Given the description of an element on the screen output the (x, y) to click on. 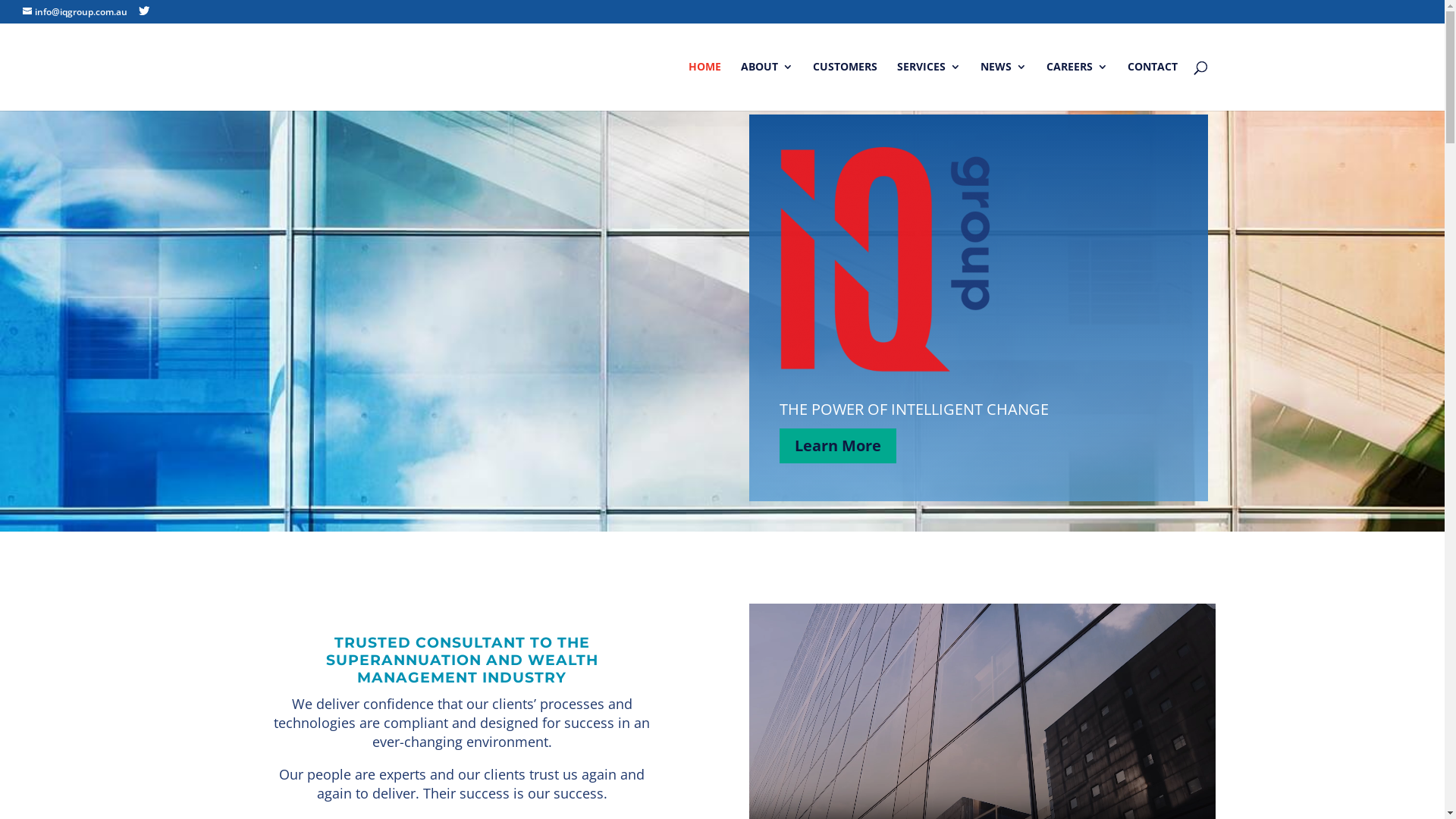
HOME Element type: text (704, 85)
CAREERS Element type: text (1076, 85)
Learn More Element type: text (837, 445)
ABOUT Element type: text (766, 85)
CONTACT Element type: text (1151, 85)
info@iqgroup.com.au Element type: text (74, 11)
NEWS Element type: text (1002, 85)
SERVICES Element type: text (928, 85)
CUSTOMERS Element type: text (844, 85)
